Given the description of an element on the screen output the (x, y) to click on. 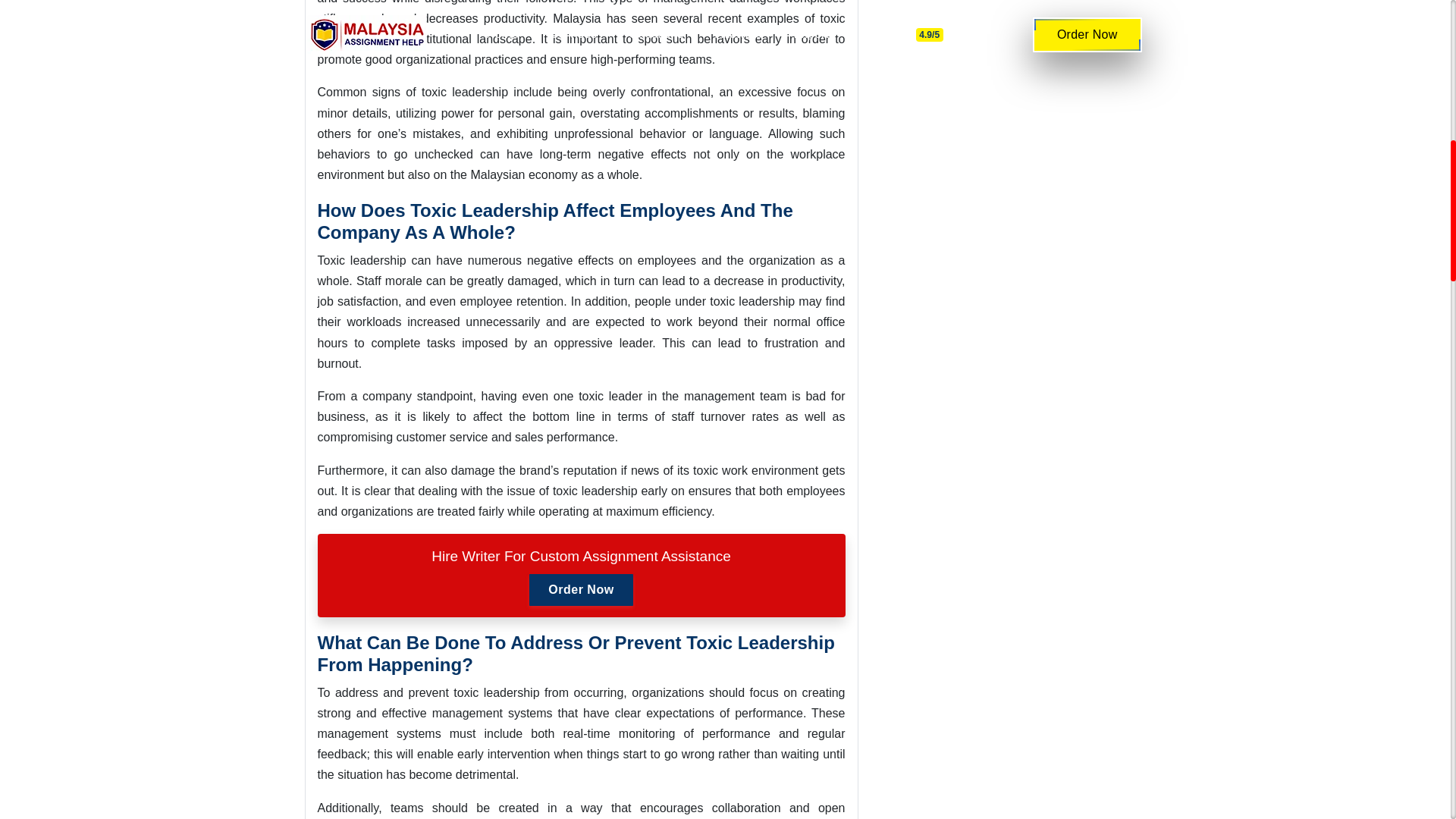
Order Now (580, 590)
